Given the description of an element on the screen output the (x, y) to click on. 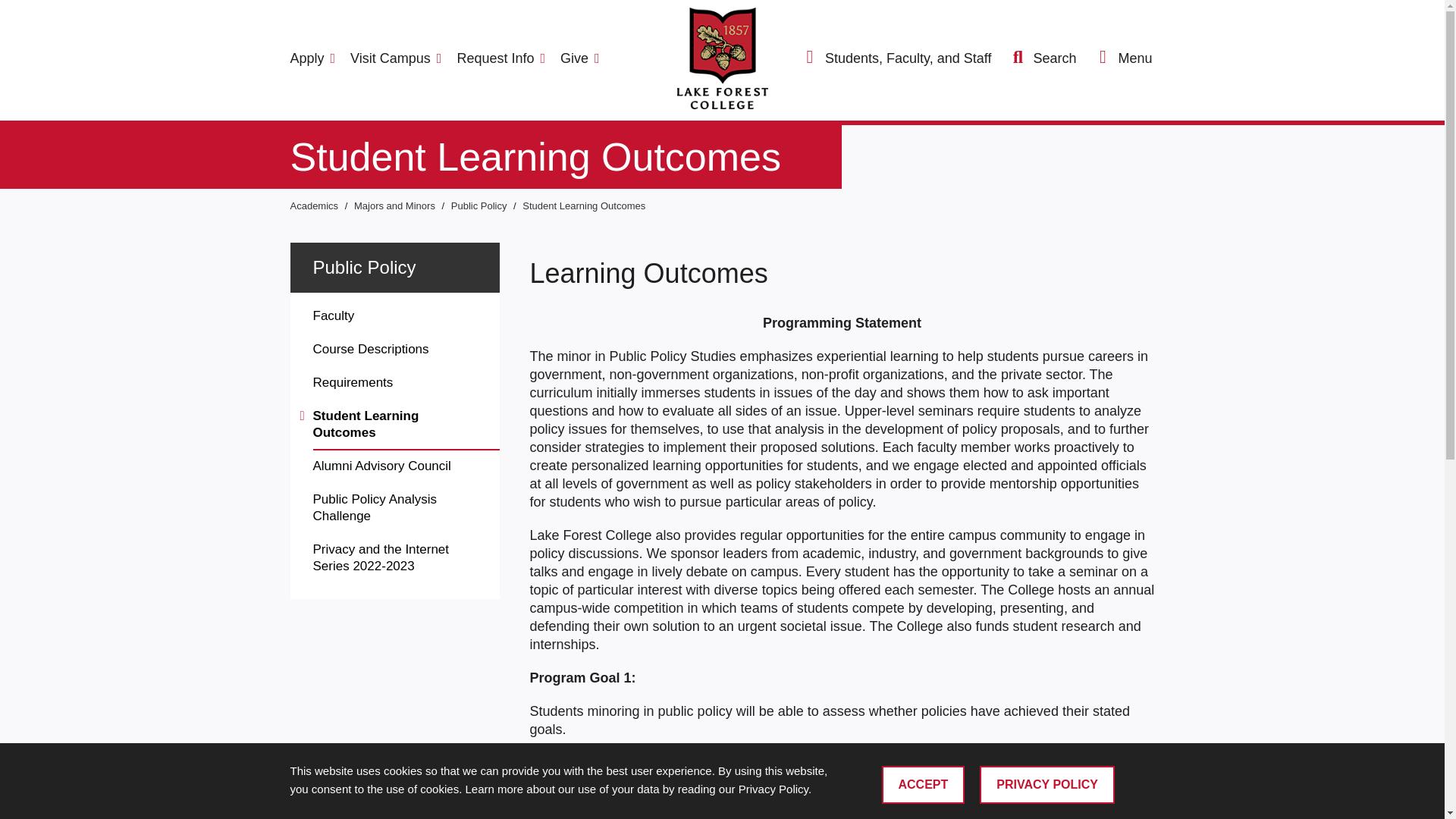
Students, Faculty, and Staff (897, 58)
Student Learning Outcomes (583, 205)
Course Descriptions (406, 349)
Majors and Minors (395, 205)
Alumni Advisory Council (406, 467)
Academics (314, 205)
Privacy and the Internet Series 2022-2023 (406, 558)
Public Policy (363, 267)
Faculty (406, 316)
Public Policy (480, 205)
